Given the description of an element on the screen output the (x, y) to click on. 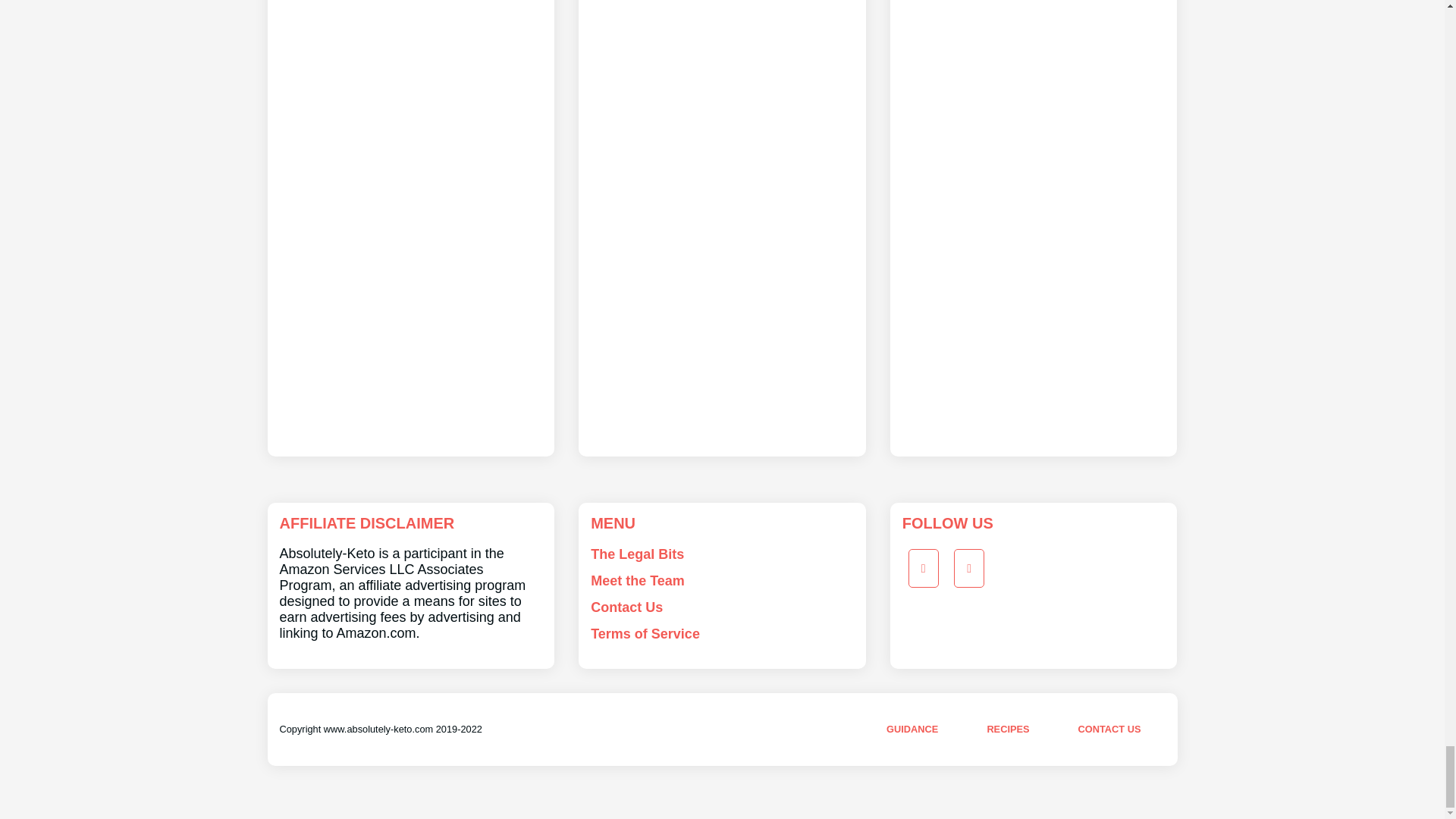
Meet the Team (637, 580)
The Legal Bits (637, 554)
